Given the description of an element on the screen output the (x, y) to click on. 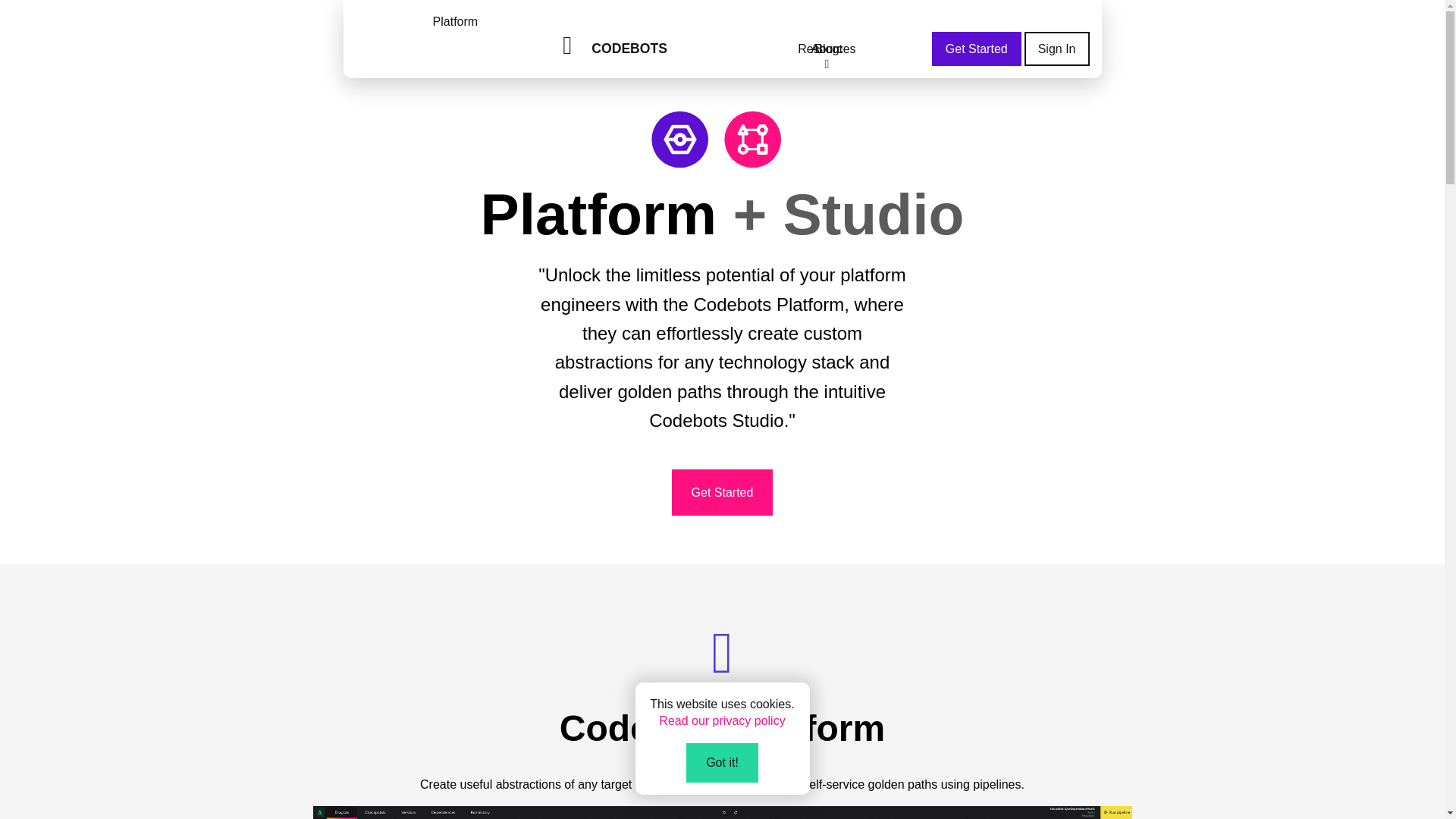
Read our privacy policy (721, 730)
CODEBOTS (826, 47)
Sign In (1057, 48)
Got it! (721, 769)
Get Started (976, 48)
Get Started (722, 491)
Platform (454, 21)
About (826, 48)
